Given the description of an element on the screen output the (x, y) to click on. 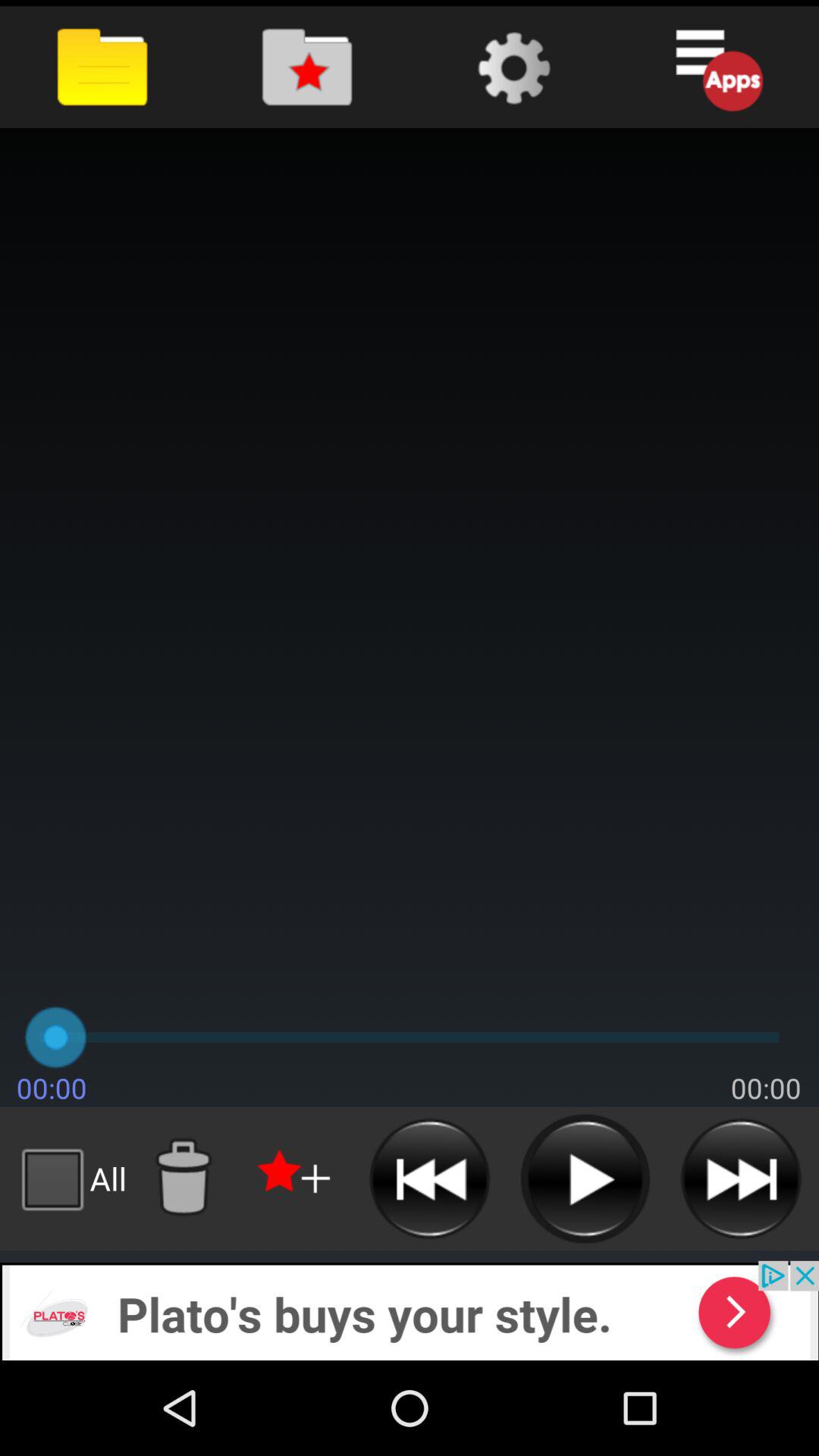
open apps (716, 66)
